Given the description of an element on the screen output the (x, y) to click on. 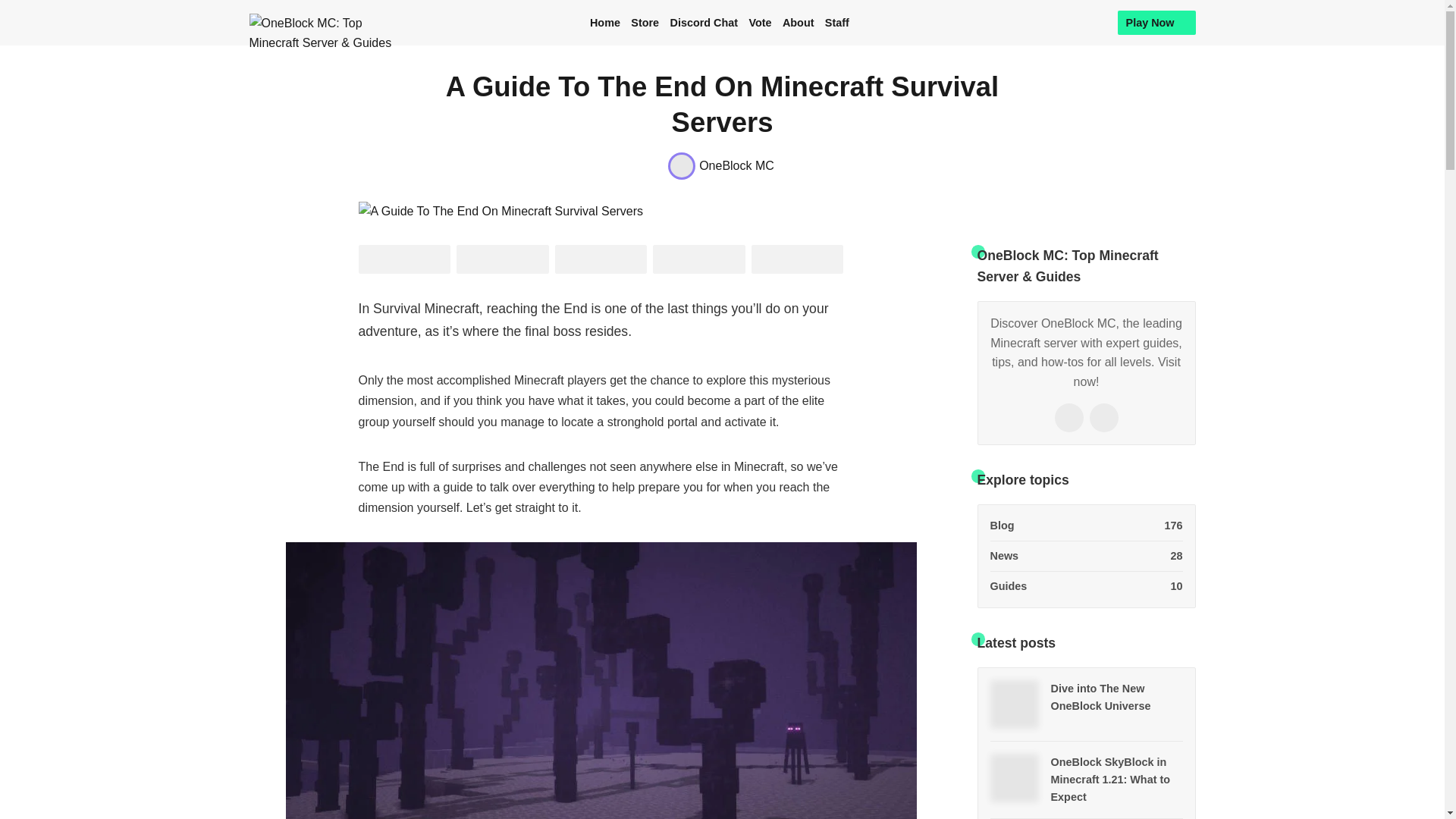
Play Now (1156, 22)
Blog (1086, 528)
News (1086, 556)
Twitter (1068, 417)
Discord Chat (703, 22)
Staff (836, 22)
Share on Twitter (403, 258)
Share on Linkedin (600, 258)
Copy to clipboard (797, 258)
Share on Facebook (502, 258)
